Given the description of an element on the screen output the (x, y) to click on. 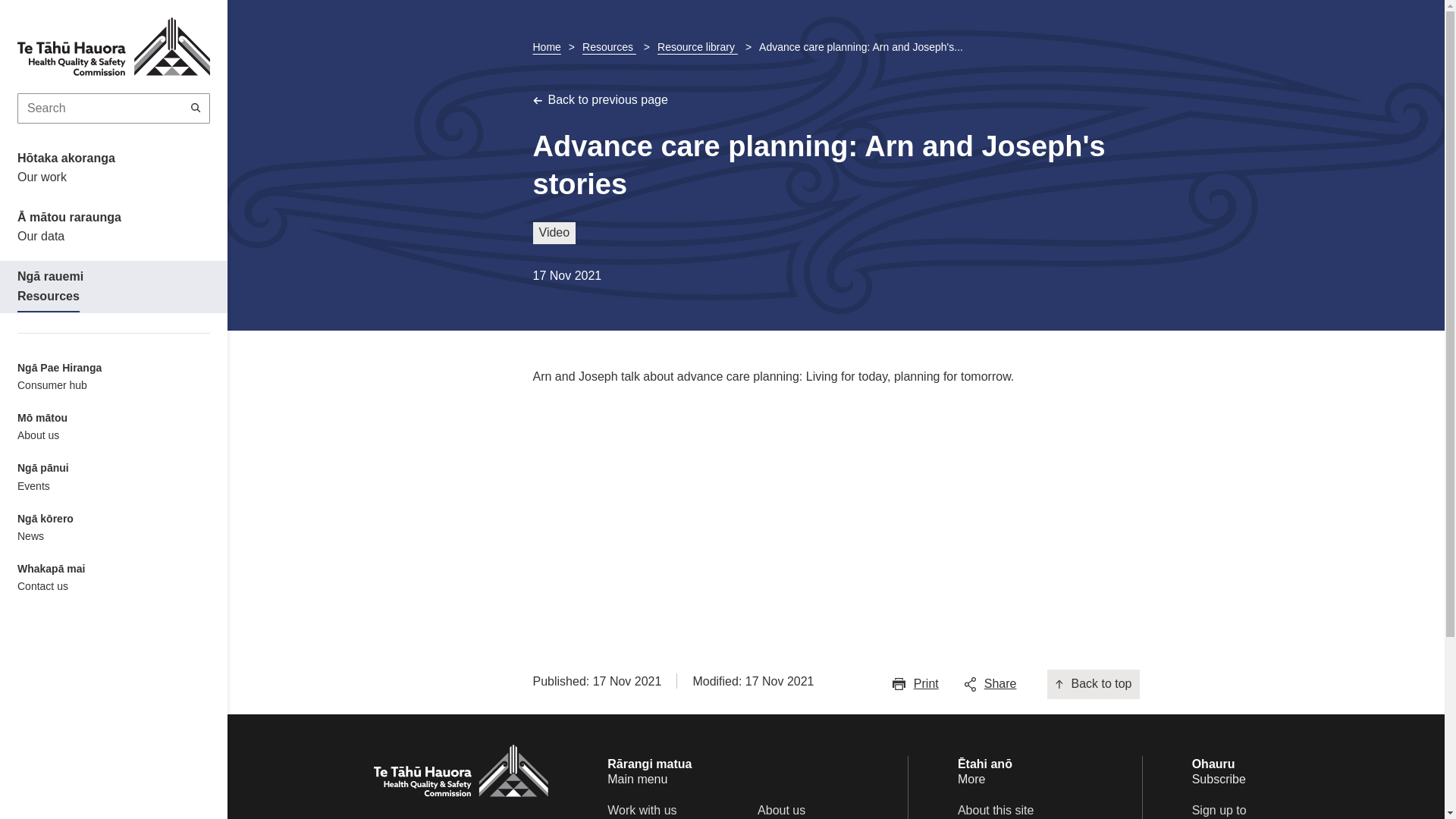
Living For Today Planning For Tomorrow subtitled (714, 502)
Search (195, 108)
